Given the description of an element on the screen output the (x, y) to click on. 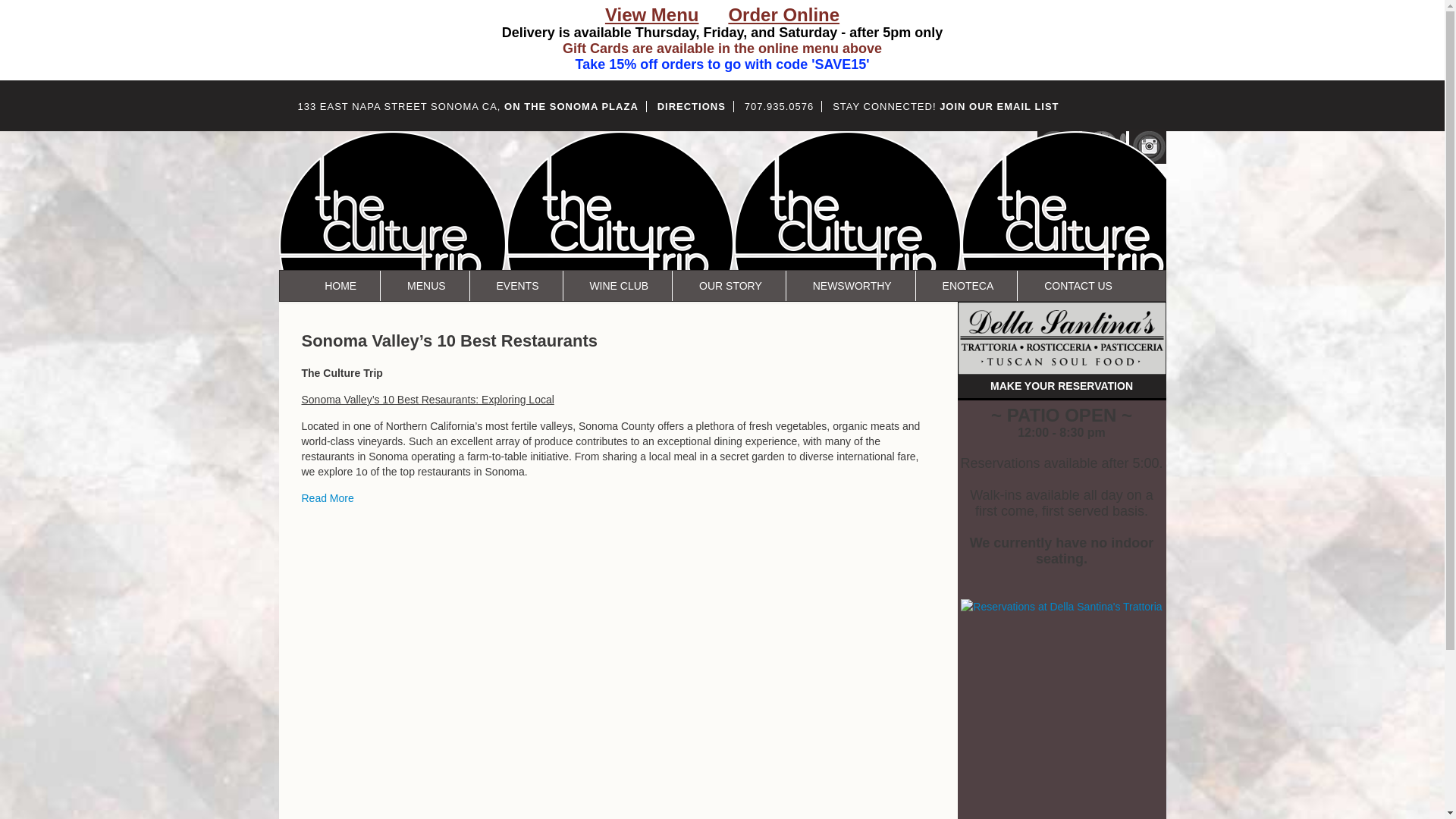
WINE CLUB (618, 286)
View Menu (651, 17)
CONTACT US (1077, 286)
JOIN OUR EMAIL LIST (998, 106)
EVENTS (516, 286)
ENOTECA (967, 286)
OUR STORY (730, 286)
HOME (340, 286)
Order Online (784, 17)
DIRECTIONS (691, 106)
Read More (327, 498)
MENUS (426, 286)
NEWSWORTHY (852, 286)
Della Santina's Trattoria Reservations on Yelp (1060, 606)
